Given the description of an element on the screen output the (x, y) to click on. 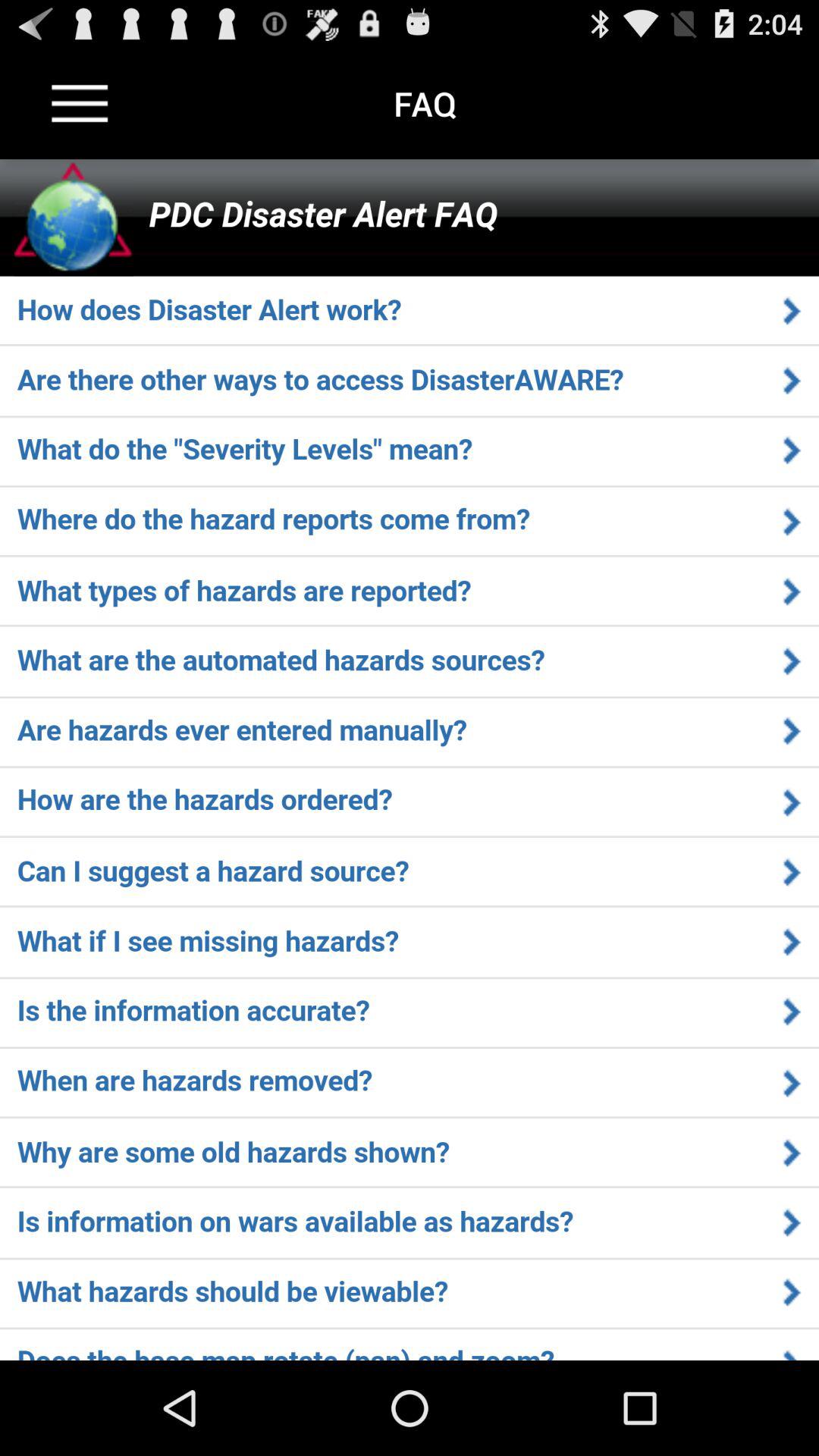
menu button (79, 103)
